Given the description of an element on the screen output the (x, y) to click on. 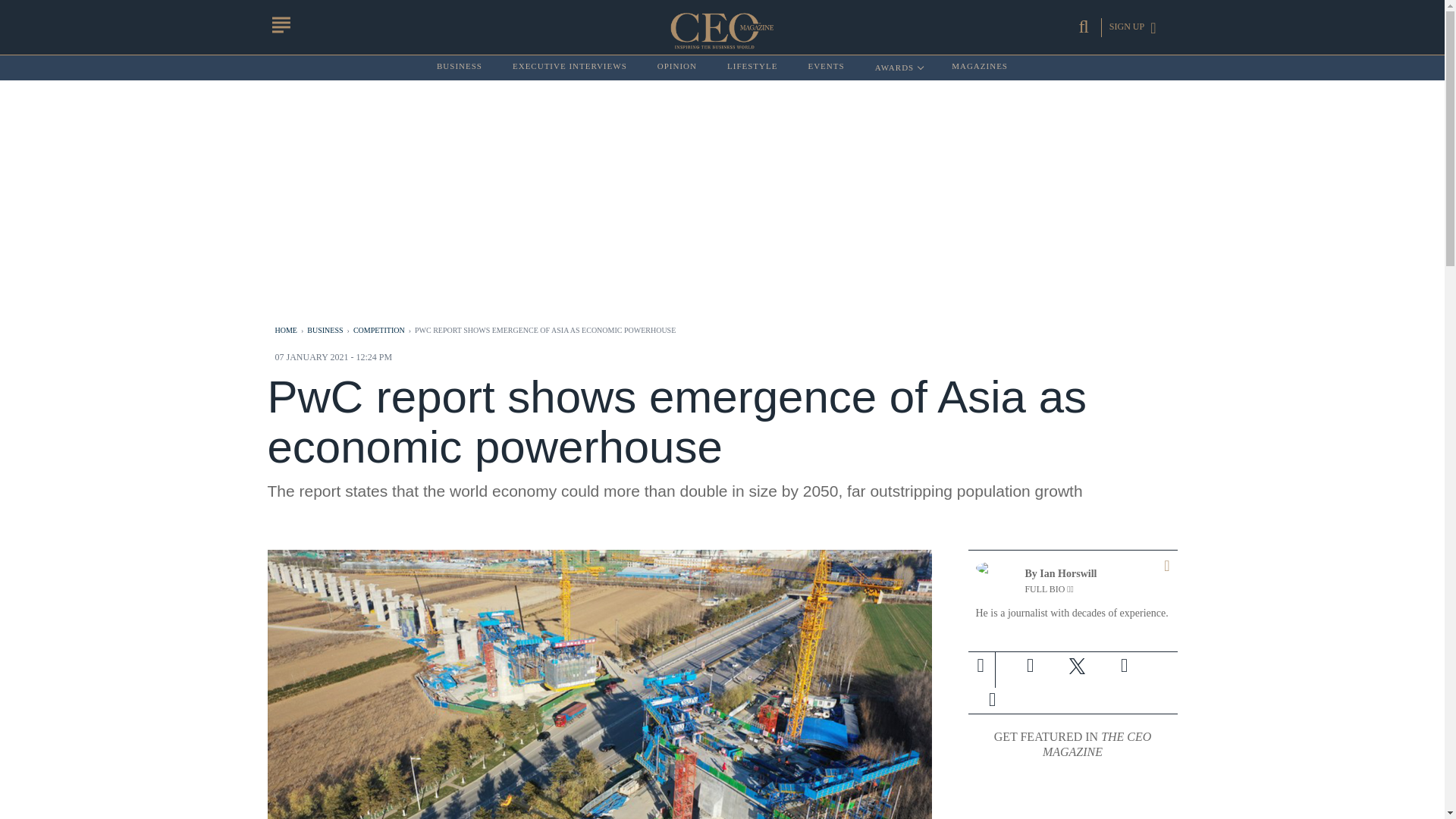
Sign-up (991, 699)
Share to Facebook (1029, 665)
BUSINESS (898, 67)
Share to Twitter (458, 66)
Share to Linkedin (1076, 665)
EXECUTIVE INTERVIEWS (1123, 665)
Subscribe (569, 66)
Opinion (991, 699)
Skip to content (677, 66)
